Given the description of an element on the screen output the (x, y) to click on. 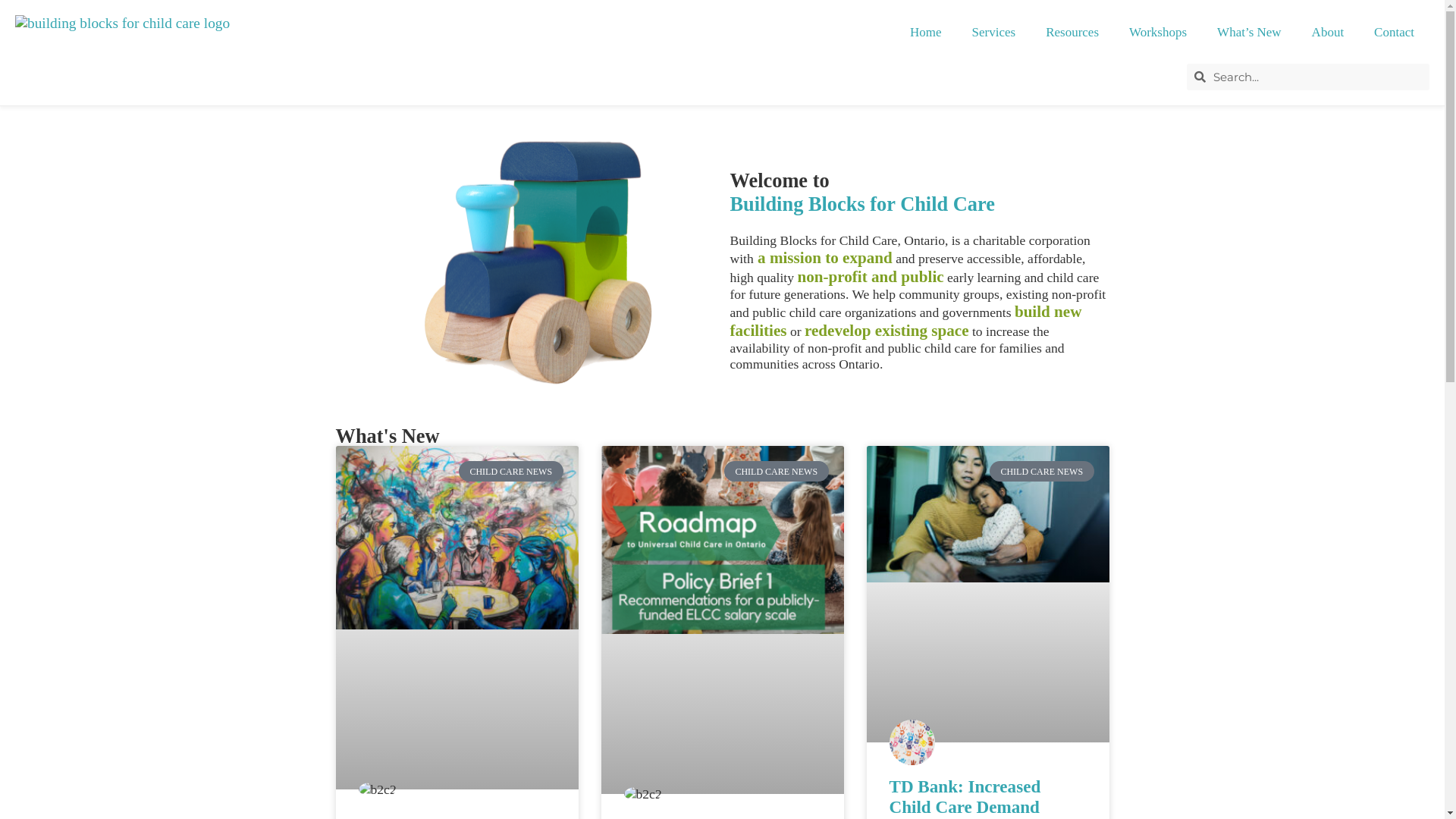
Resources Element type: text (1071, 32)
Workshops Element type: text (1157, 32)
About Element type: text (1327, 32)
Contact Element type: text (1393, 32)
Home Element type: text (925, 32)
Services Element type: text (994, 32)
